Given the description of an element on the screen output the (x, y) to click on. 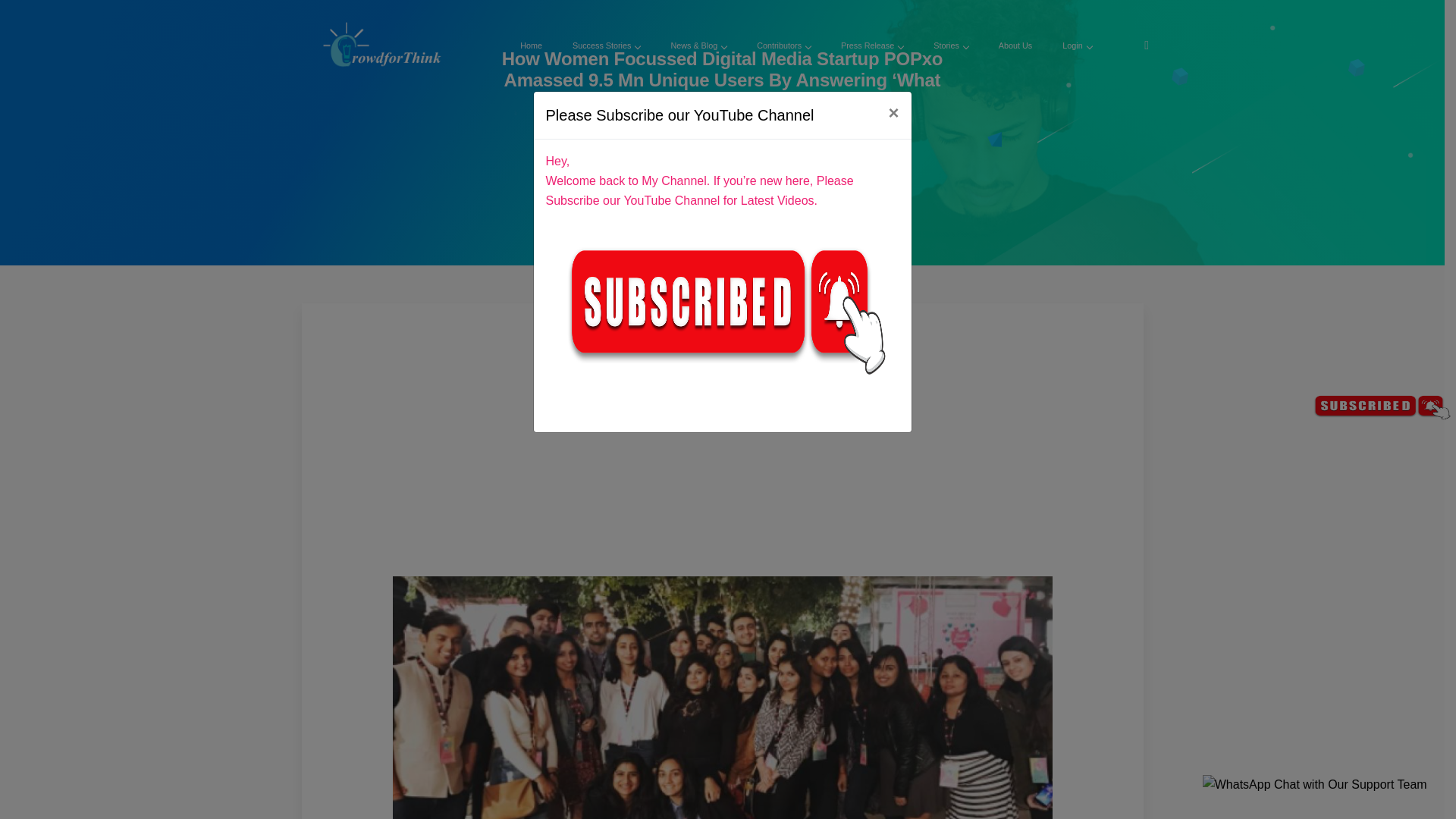
Success Stories (605, 45)
Blog List (743, 126)
Home (694, 126)
Play (721, 187)
